Given the description of an element on the screen output the (x, y) to click on. 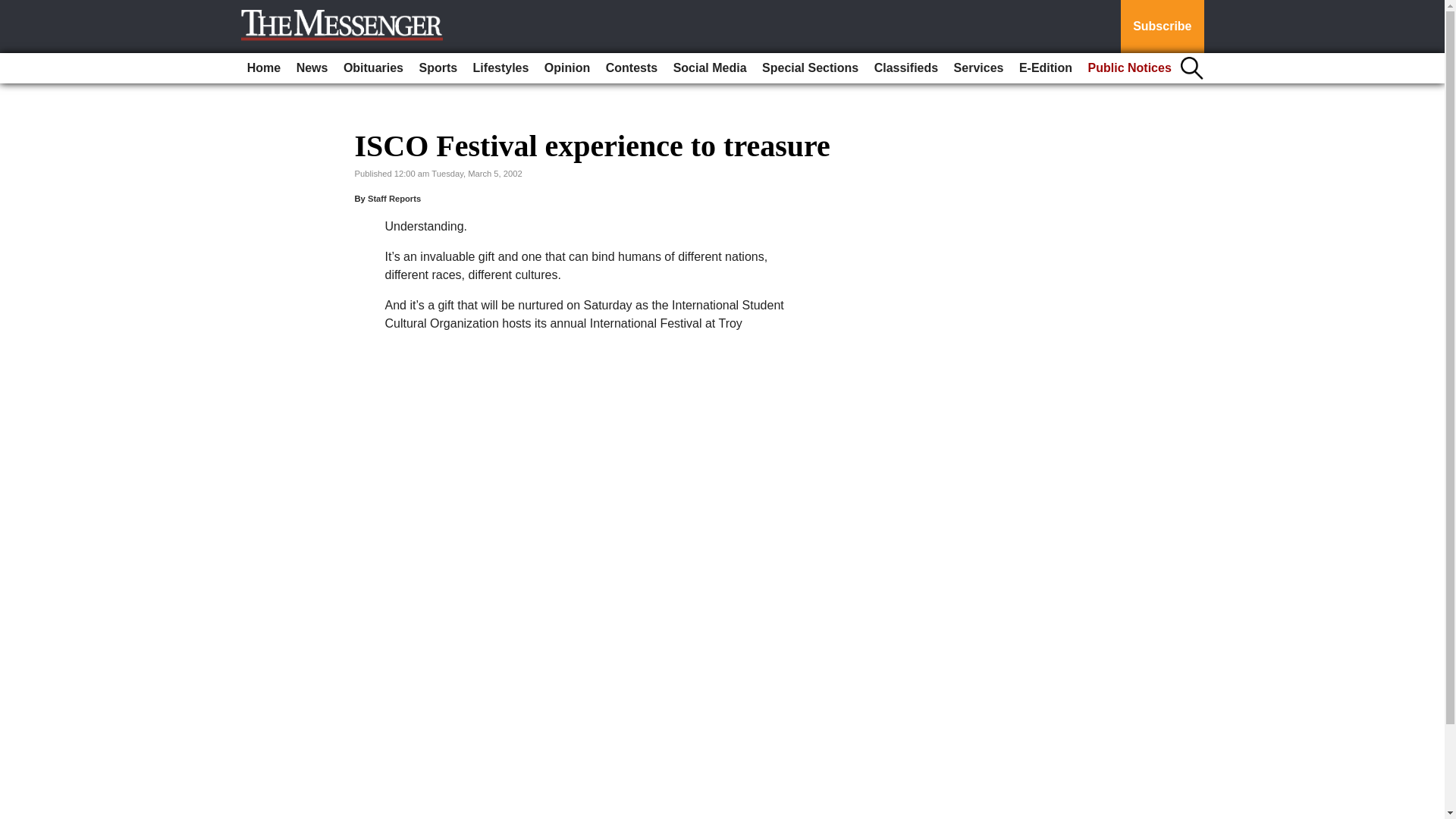
Services (978, 68)
Lifestyles (501, 68)
E-Edition (1045, 68)
Special Sections (809, 68)
Home (263, 68)
Subscribe (1162, 26)
News (311, 68)
Classifieds (905, 68)
Obituaries (373, 68)
Contests (631, 68)
Opinion (566, 68)
Social Media (709, 68)
Sports (437, 68)
Public Notices (1129, 68)
